Given the description of an element on the screen output the (x, y) to click on. 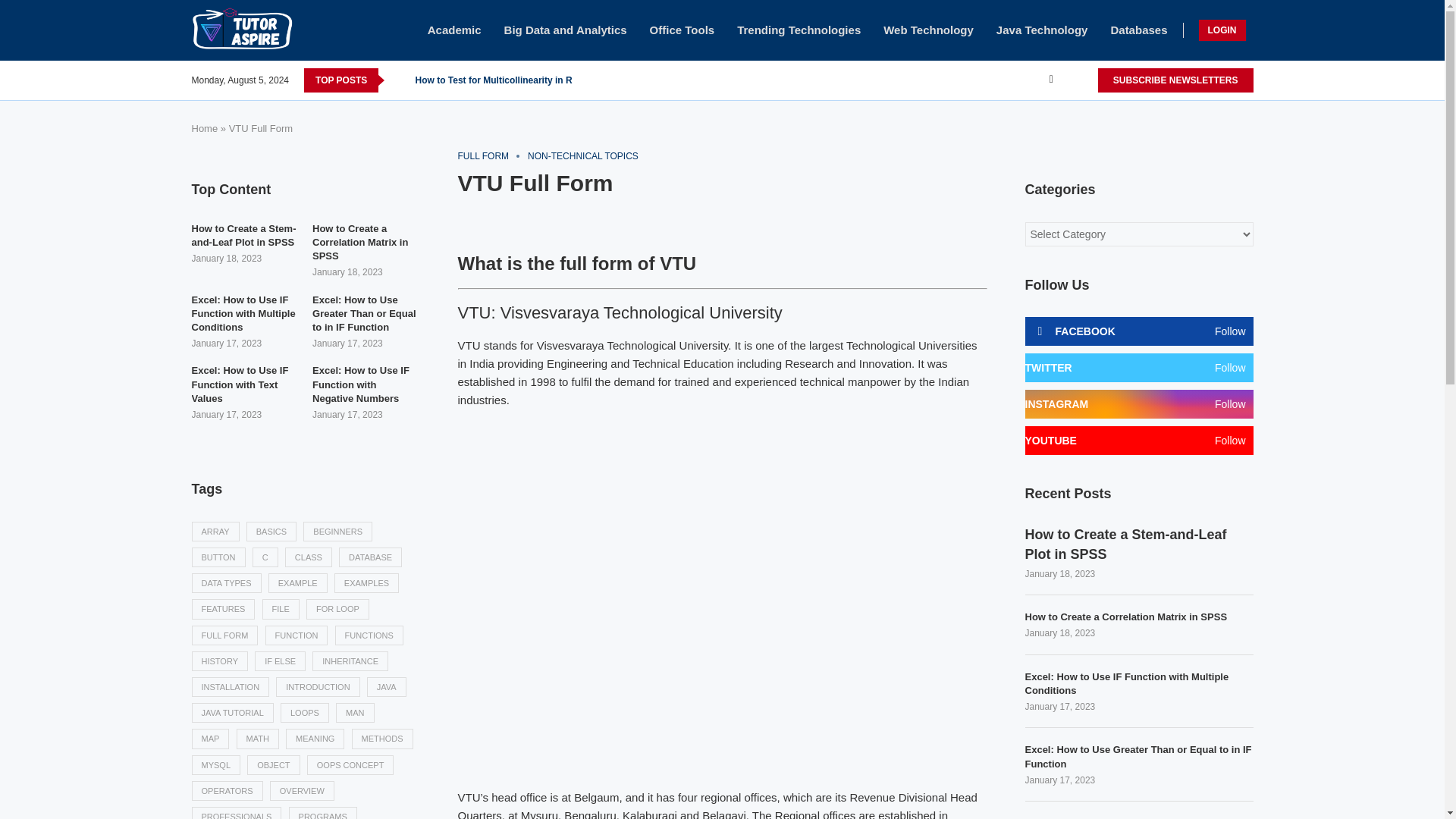
How to Create a Correlation Matrix in SPSS (1139, 617)
Java Technology (1041, 30)
Excel: How to Use IF Function with Multiple Conditions (1139, 683)
LOGIN (1221, 29)
Big Data and Analytics (565, 30)
Trending Technologies (798, 30)
How to Create a Correlation Matrix in SPSS (366, 242)
How to Create a Stem-and-Leaf Plot in SPSS (244, 235)
Office Tools (681, 30)
Databases (1138, 30)
How to Test for Multicollinearity in R (493, 79)
Academic (454, 30)
Web Technology (928, 30)
Excel: How to Use Greater Than or Equal to in IF Function (366, 313)
